Given the description of an element on the screen output the (x, y) to click on. 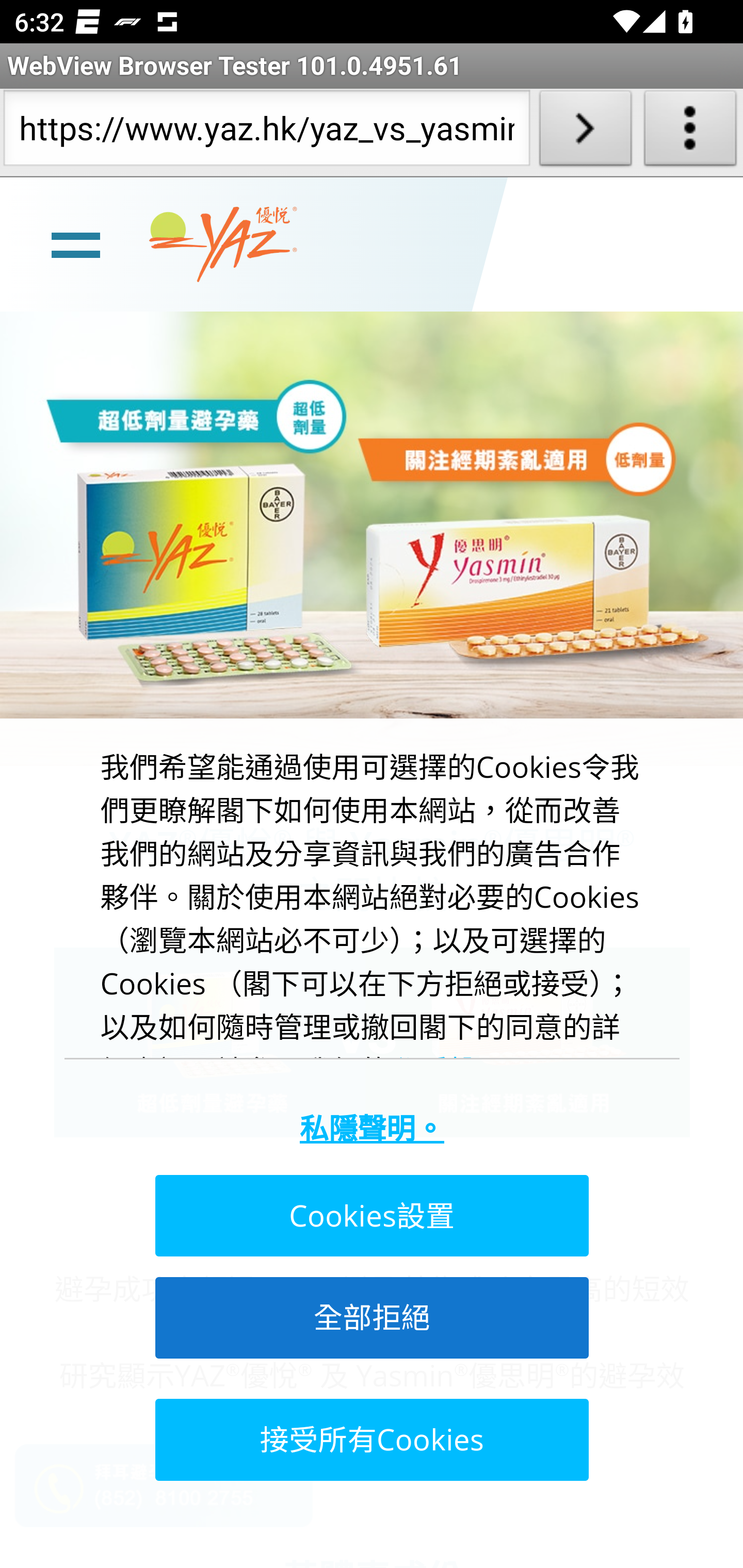
Load URL (585, 132)
About WebView (690, 132)
www.yaz (222, 244)
line Toggle burger menu (75, 242)
Cookies設置 (370, 1215)
全部拒絕 (370, 1317)
接受所有Cookies (370, 1439)
